Given the description of an element on the screen output the (x, y) to click on. 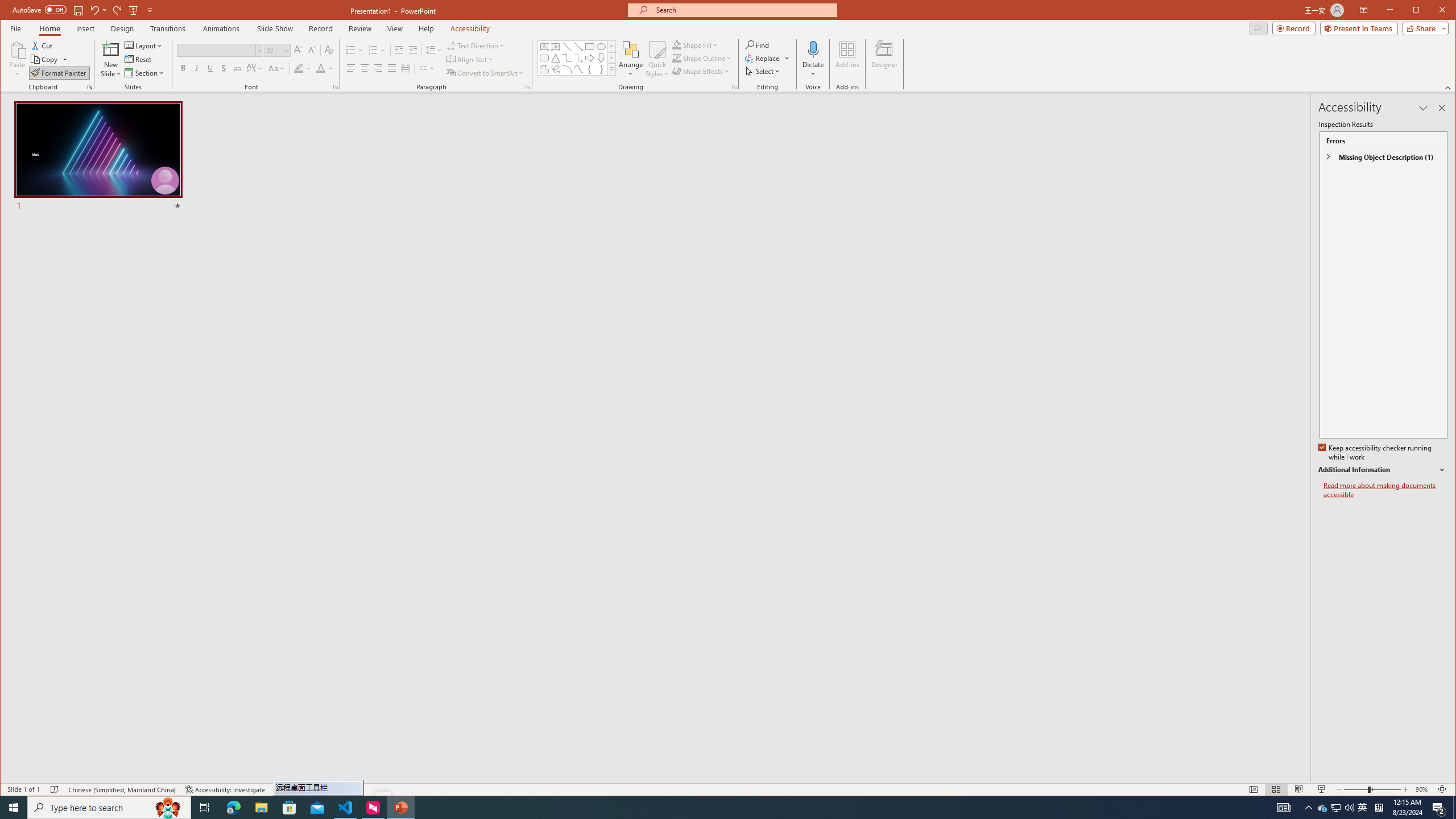
Zoom 90% (1422, 789)
